Given the description of an element on the screen output the (x, y) to click on. 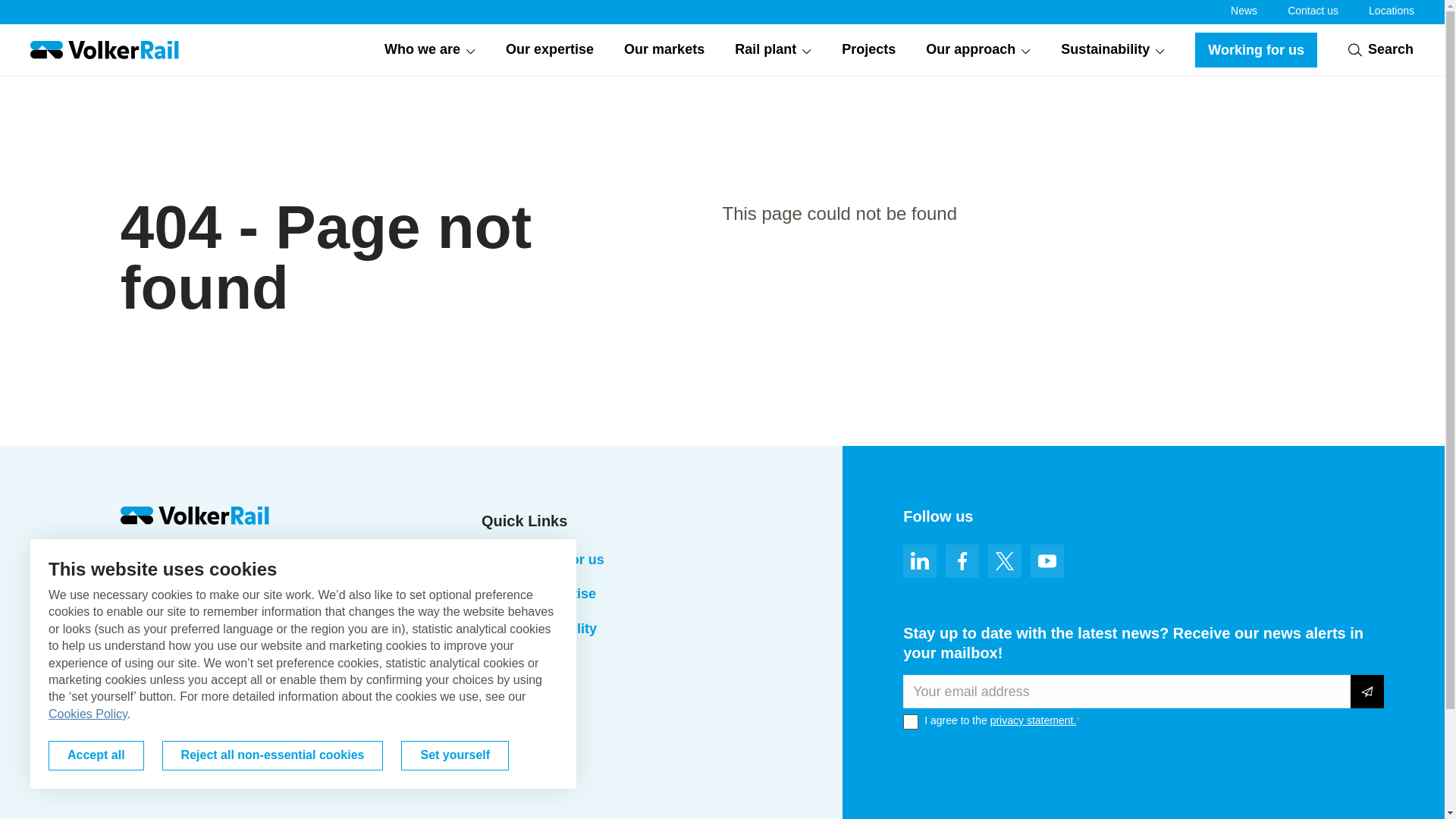
Our markets (664, 50)
News (1243, 10)
Projects (868, 50)
Submit (1367, 691)
Working for us (1256, 49)
Contact us (1312, 10)
Locations (1390, 10)
Rail plant (772, 50)
Sustainability (1112, 50)
Our approach (978, 50)
Who we are (430, 50)
Our expertise (549, 50)
